Given the description of an element on the screen output the (x, y) to click on. 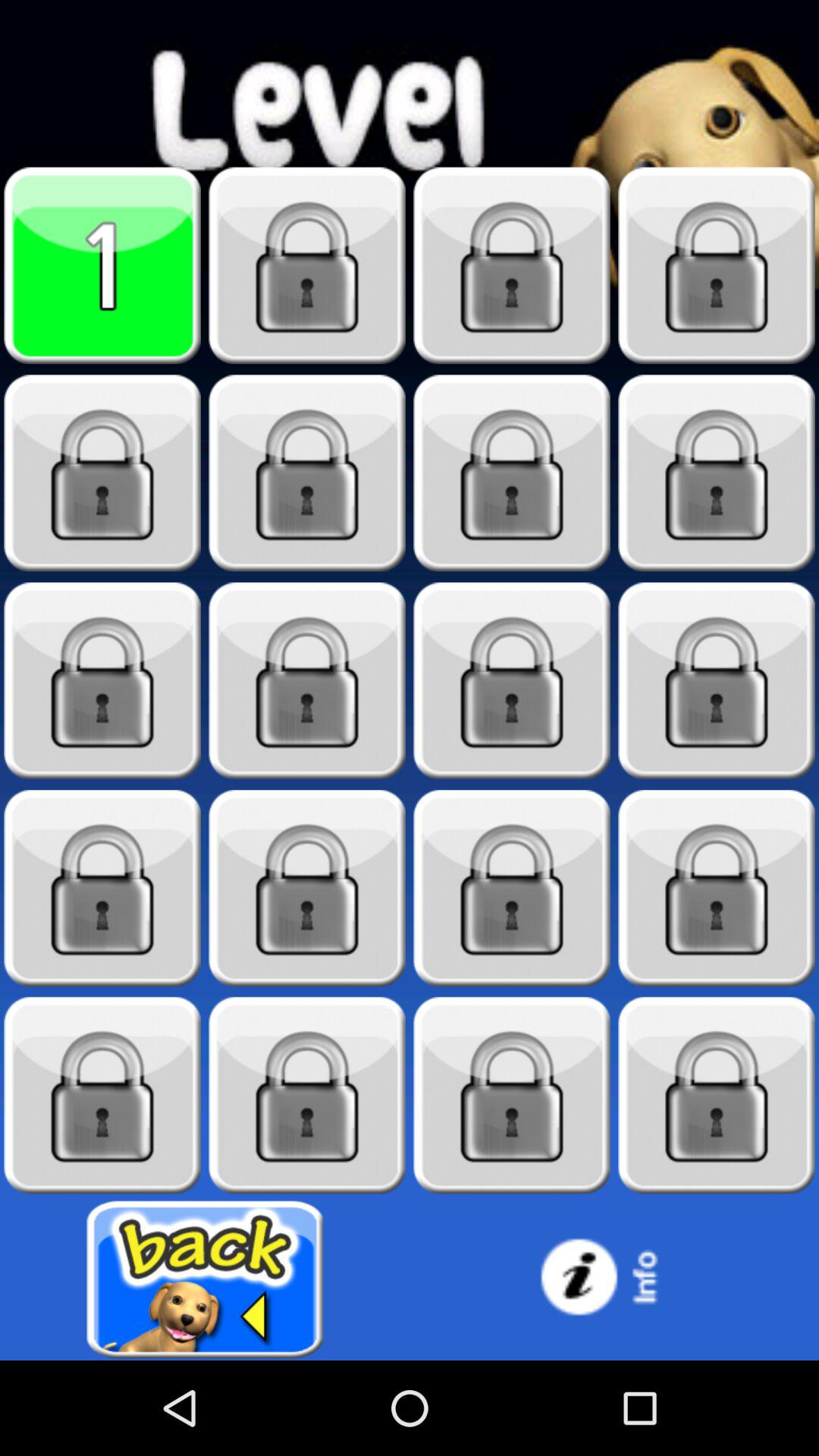
locked level (306, 473)
